Given the description of an element on the screen output the (x, y) to click on. 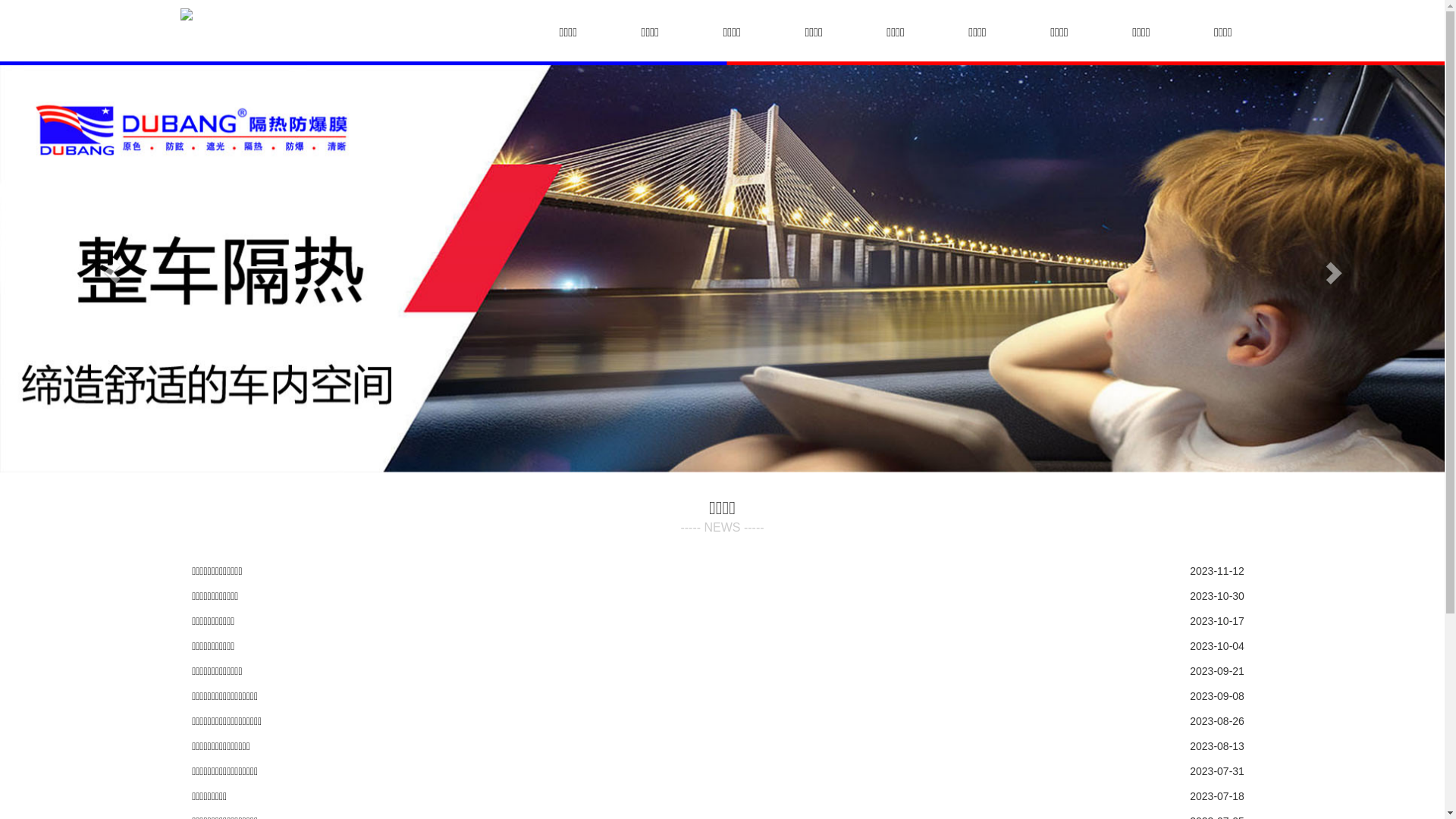
Previous Element type: text (108, 268)
Next Element type: text (1335, 268)
